Given the description of an element on the screen output the (x, y) to click on. 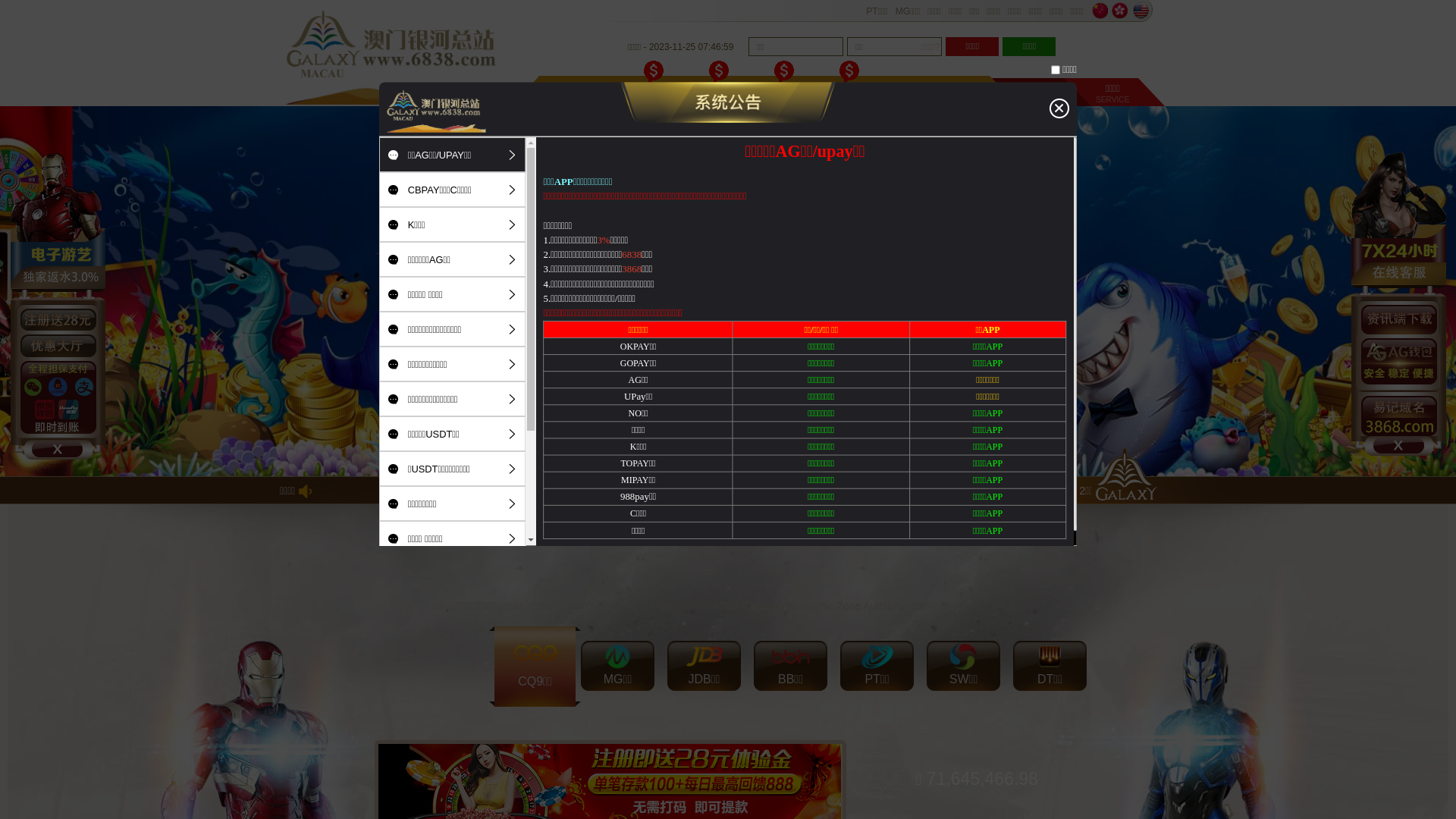
English Element type: hover (1140, 10)
